Given the description of an element on the screen output the (x, y) to click on. 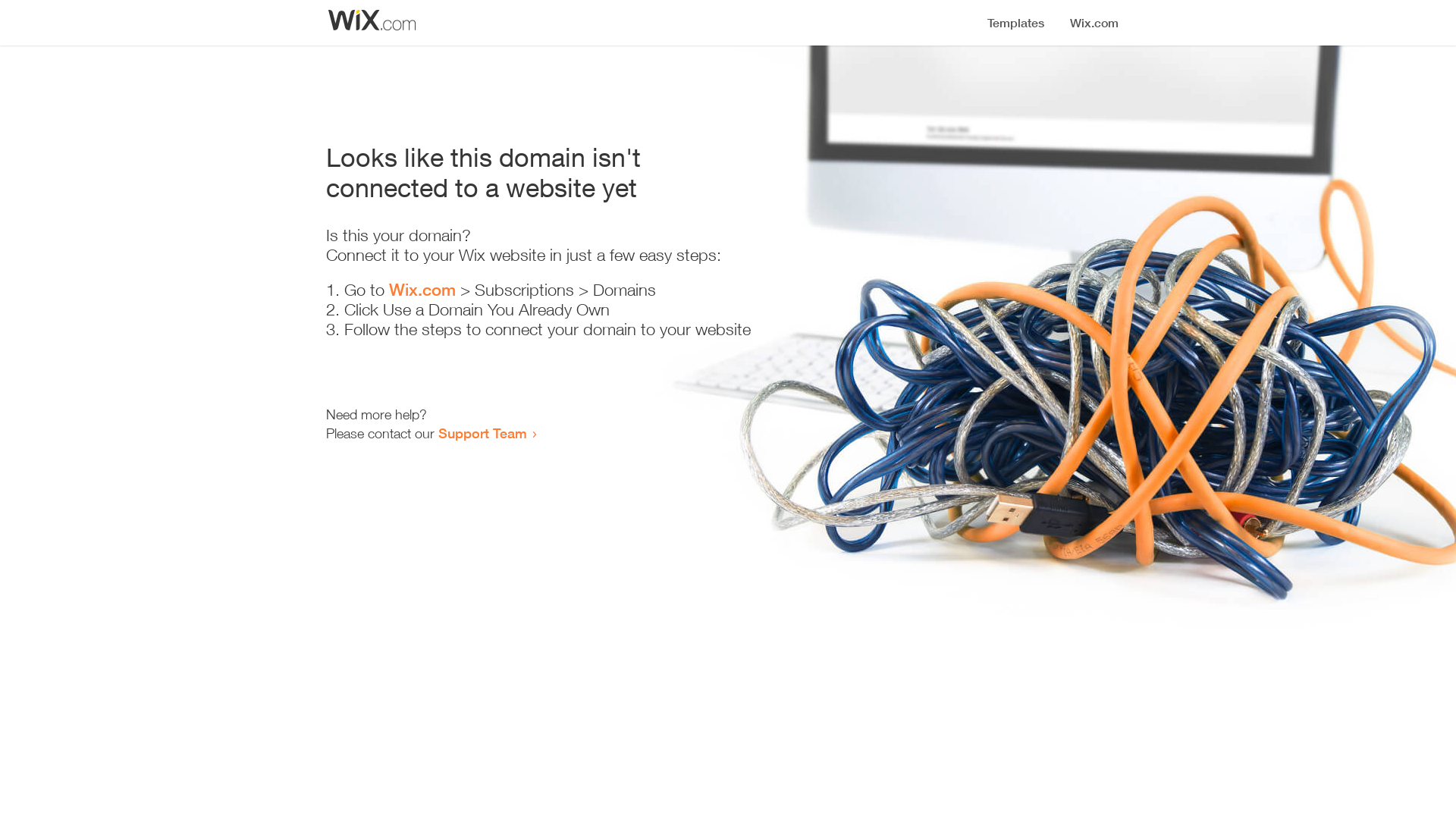
Wix.com Element type: text (422, 289)
Support Team Element type: text (482, 432)
